Given the description of an element on the screen output the (x, y) to click on. 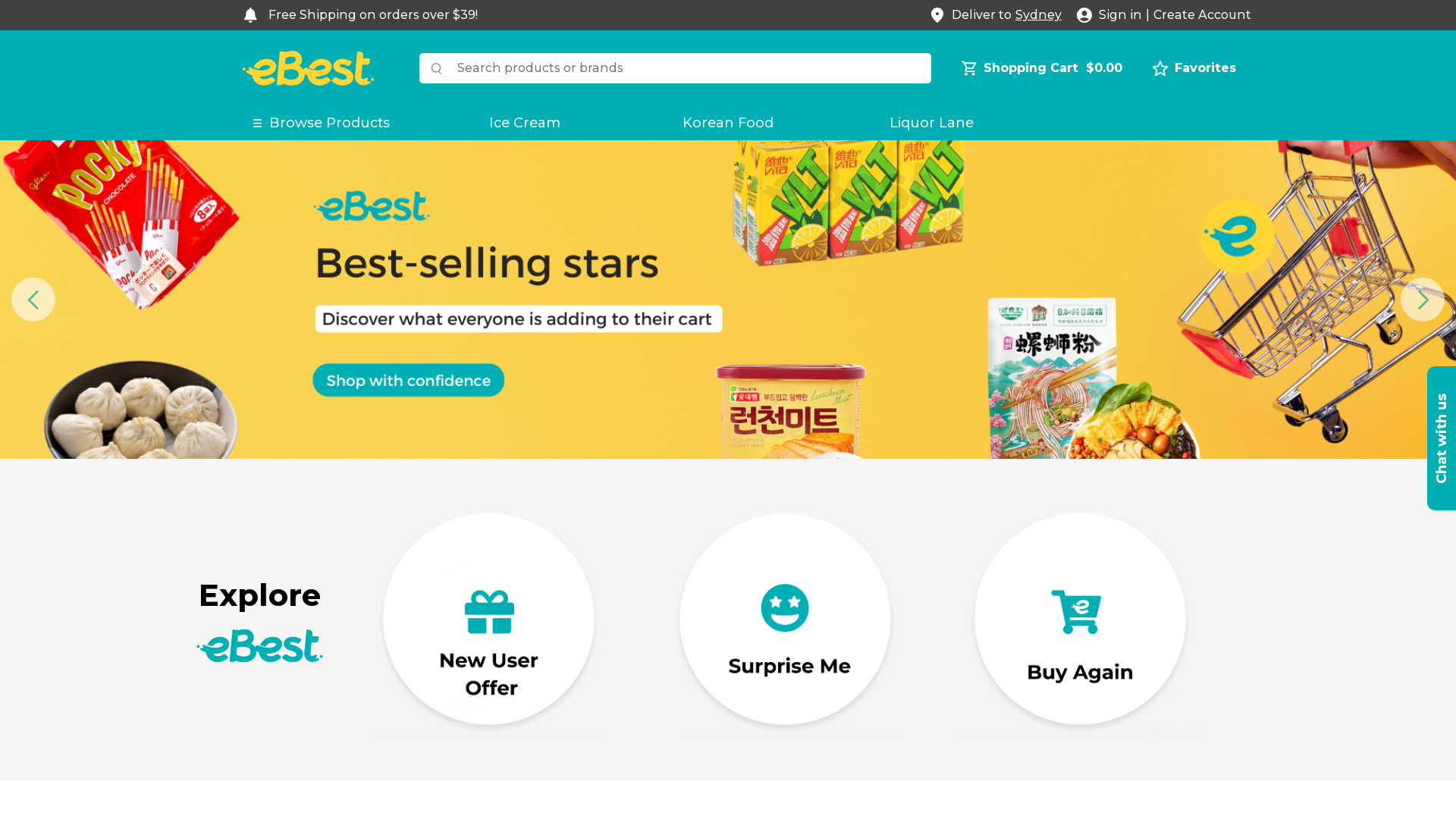
Deliver to
Sydney Element type: text (995, 15)
Favorites Element type: text (1194, 67)
Create Account Element type: text (1202, 14)
Shopping Cart $0.00 Element type: text (1041, 67)
Sign in Element type: text (1120, 14)
